Given the description of an element on the screen output the (x, y) to click on. 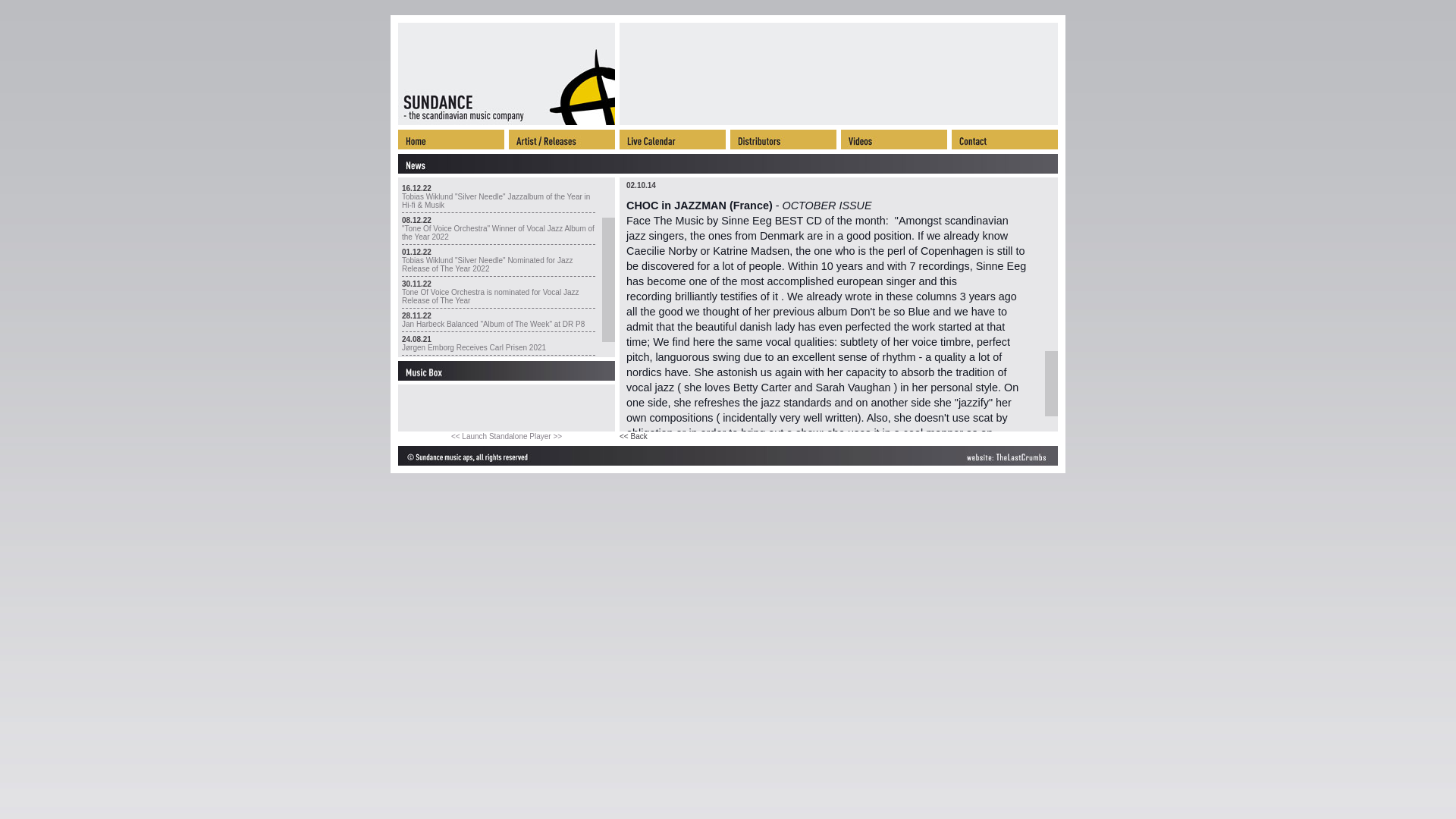
Jan Harbeck Balanced "Album of The Week" at DR P8 (493, 324)
